Given the description of an element on the screen output the (x, y) to click on. 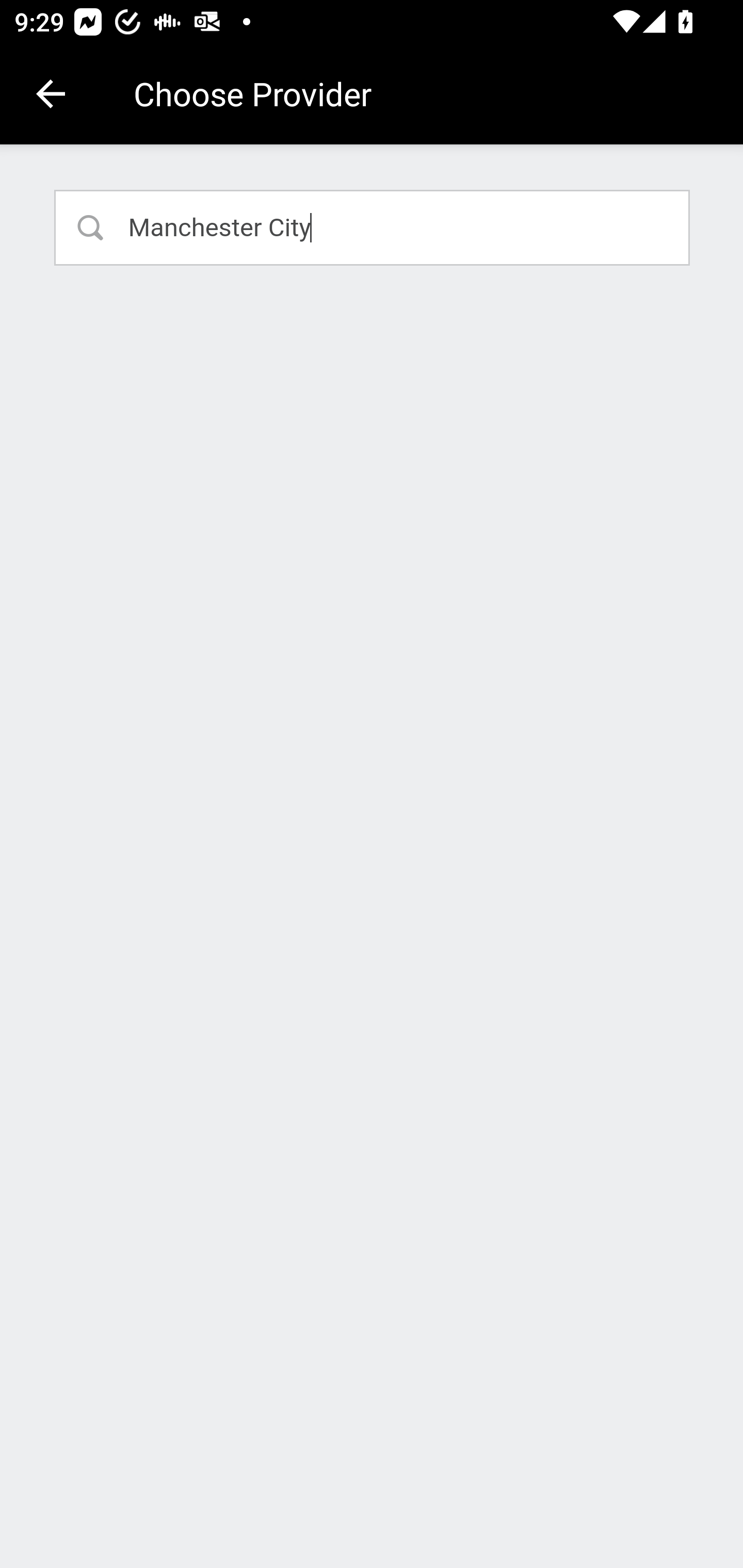
Navigate up (50, 93)
Manchester City (372, 227)
